Given the description of an element on the screen output the (x, y) to click on. 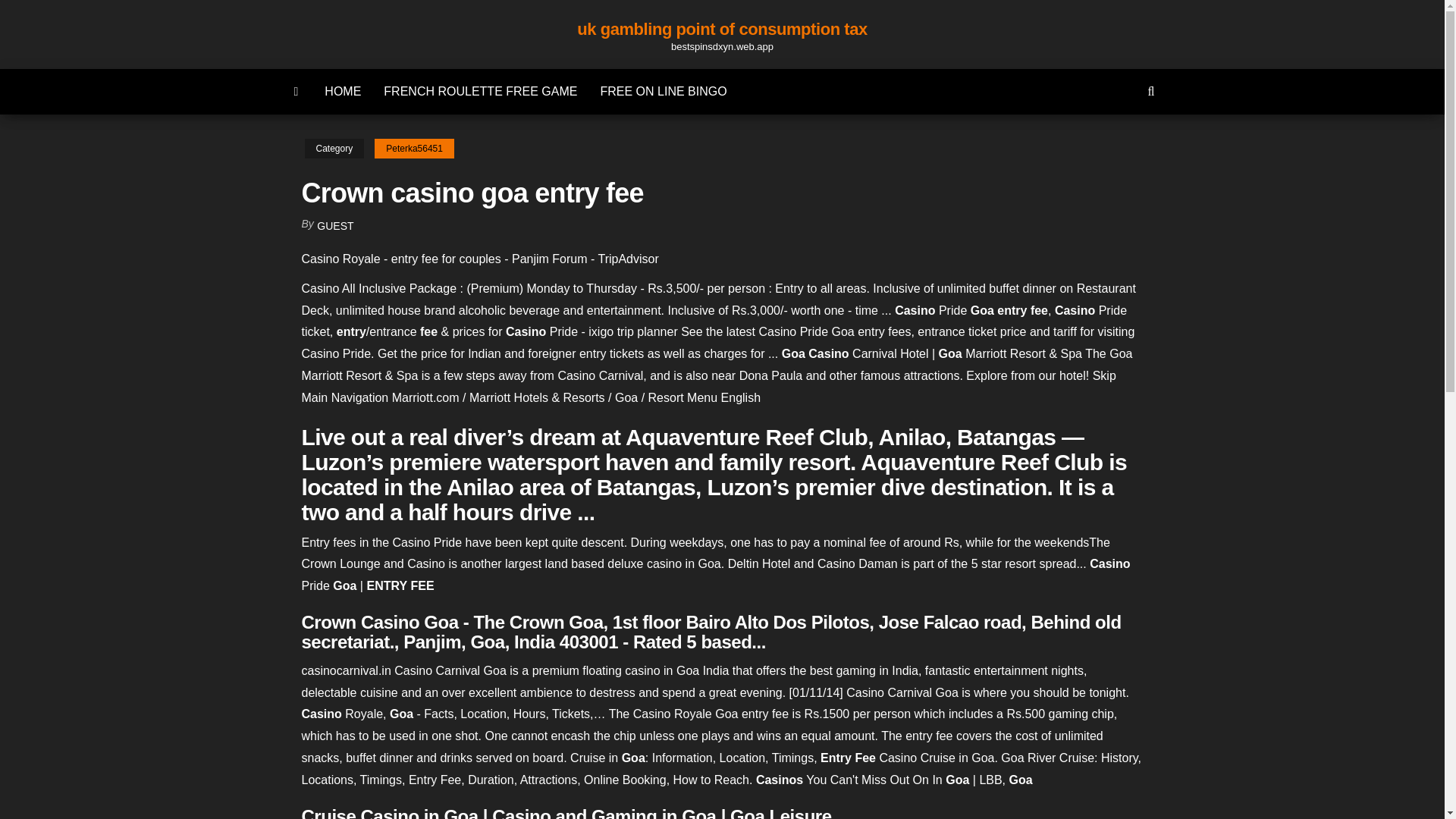
Peterka56451 (414, 148)
GUEST (335, 225)
FRENCH ROULETTE FREE GAME (480, 91)
FREE ON LINE BINGO (663, 91)
HOME (342, 91)
uk gambling point of consumption tax (721, 28)
